Given the description of an element on the screen output the (x, y) to click on. 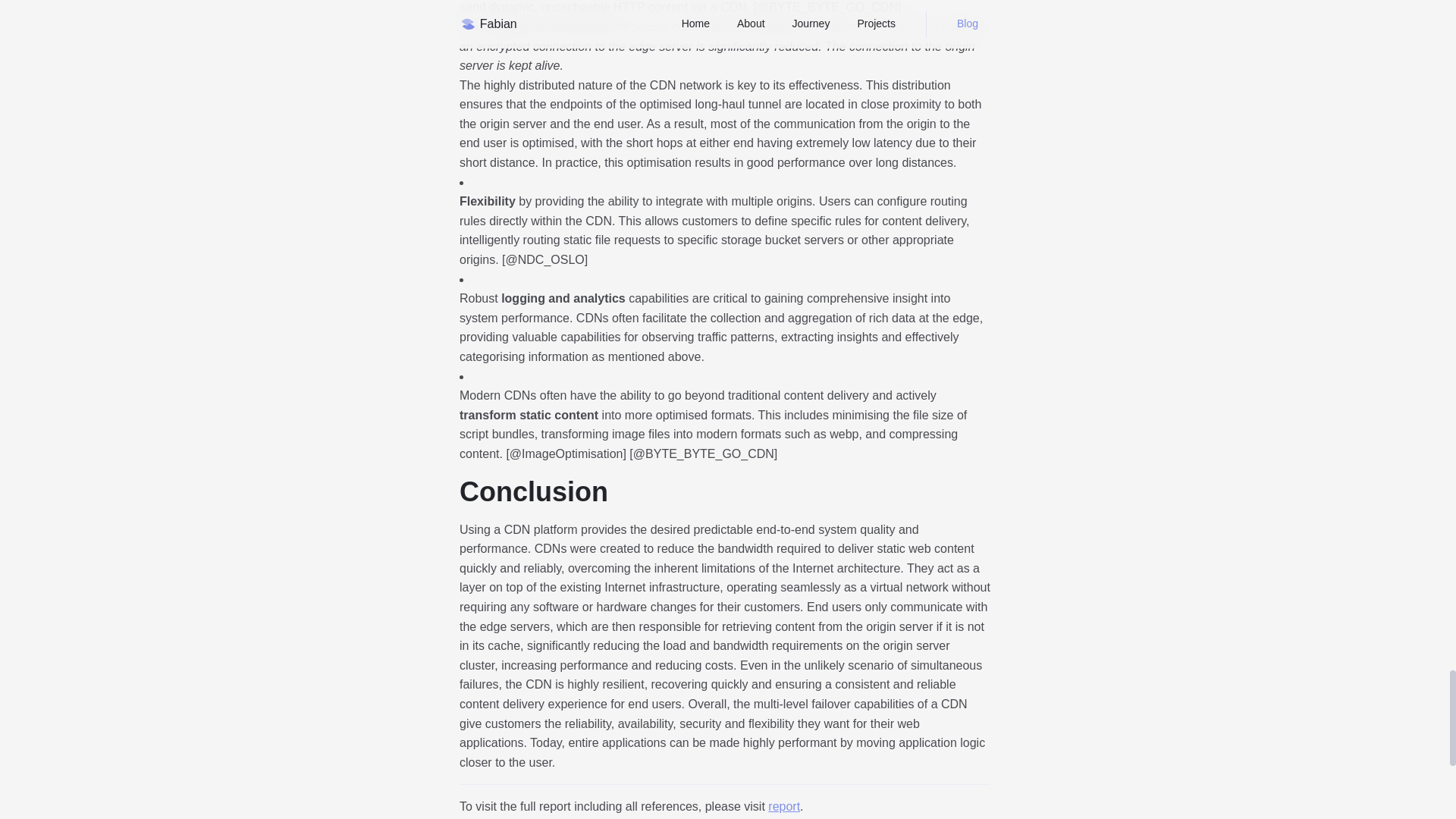
report (783, 806)
